Given the description of an element on the screen output the (x, y) to click on. 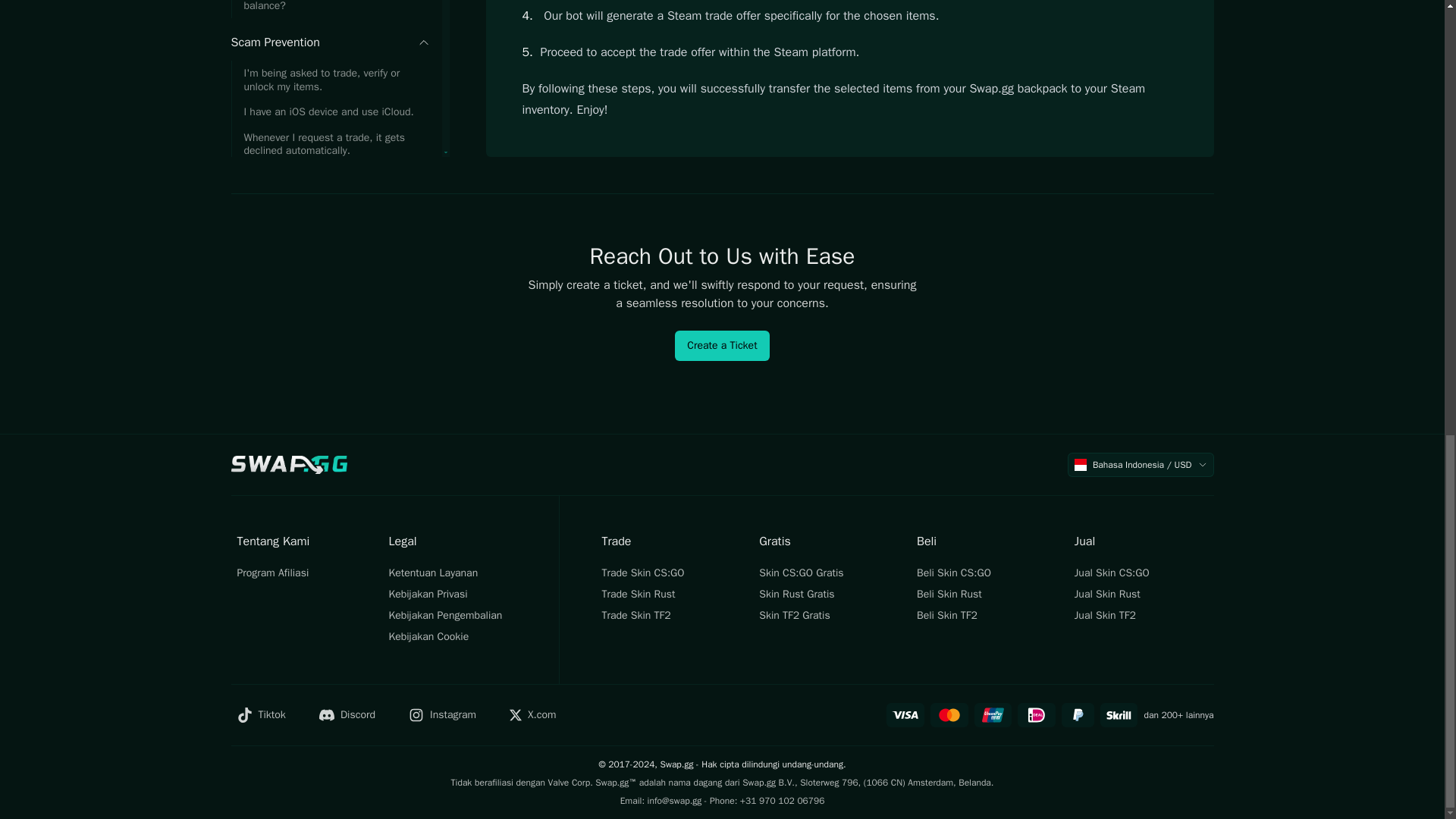
PayPal (1077, 714)
Mastercard (949, 714)
General (329, 242)
Visa (905, 714)
Skrill (1119, 714)
Whenever I request a trade, it gets declined automatically. (329, 41)
How long do I have to withdraw reserved items? (329, 122)
What do I need to be able to use Swap.gg? (329, 280)
Trade Locked Items (329, 84)
I have an iOS device and use iCloud. (329, 11)
iDEAL (1036, 714)
Can I trade for trade locked items? (329, 180)
How can I withdraw a reserved item? (329, 155)
What is Swap.gg? (329, 312)
UnionPay (992, 714)
